Given the description of an element on the screen output the (x, y) to click on. 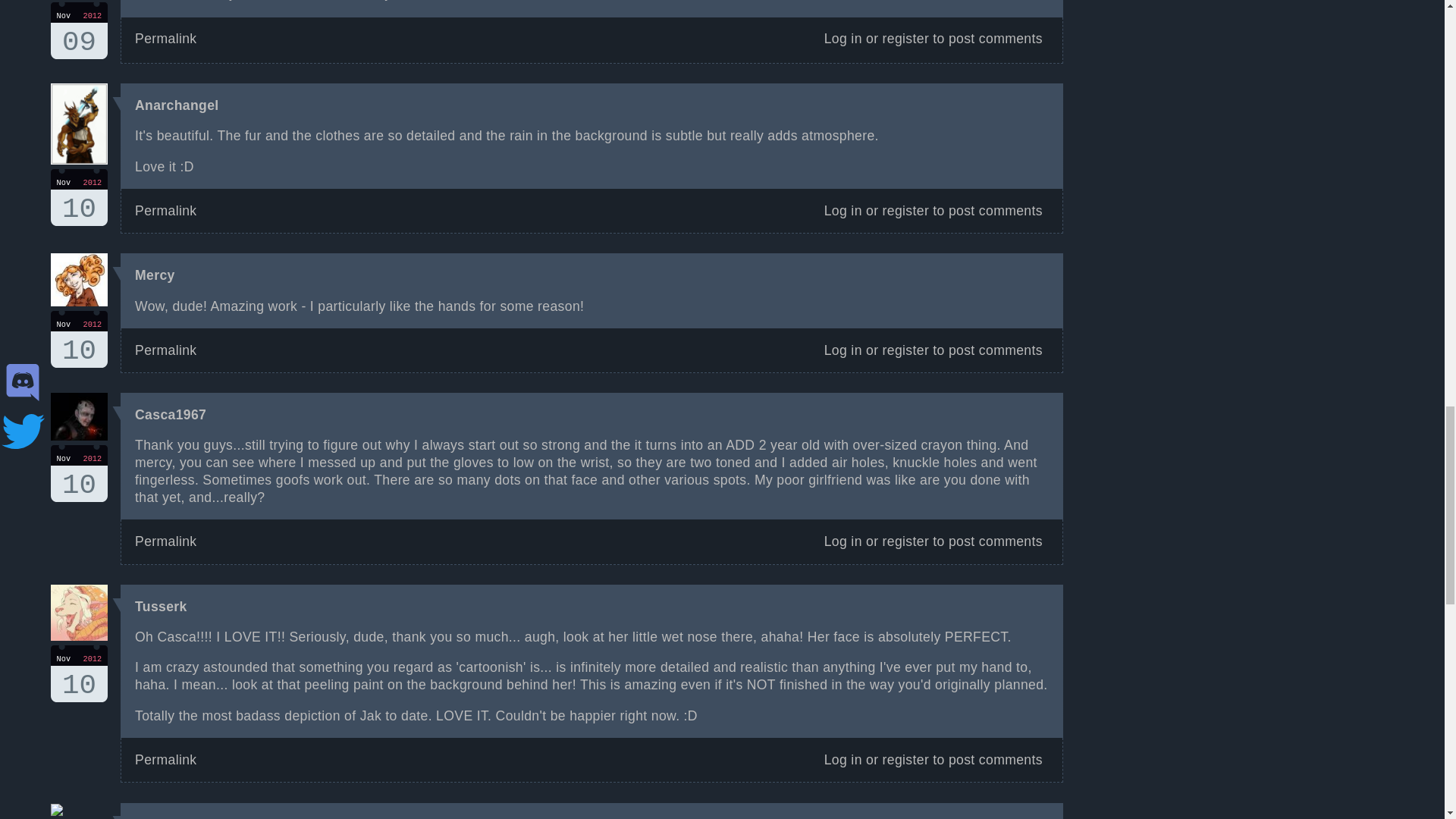
Mercy (154, 274)
Log in (842, 540)
Log in (842, 38)
register (905, 38)
register (78, 30)
Log in (905, 210)
View user profile. (842, 350)
Permalink (176, 105)
register (165, 540)
Log in (905, 540)
Permalink (842, 210)
View user profile. (165, 350)
Anarchangel (154, 274)
